Given the description of an element on the screen output the (x, y) to click on. 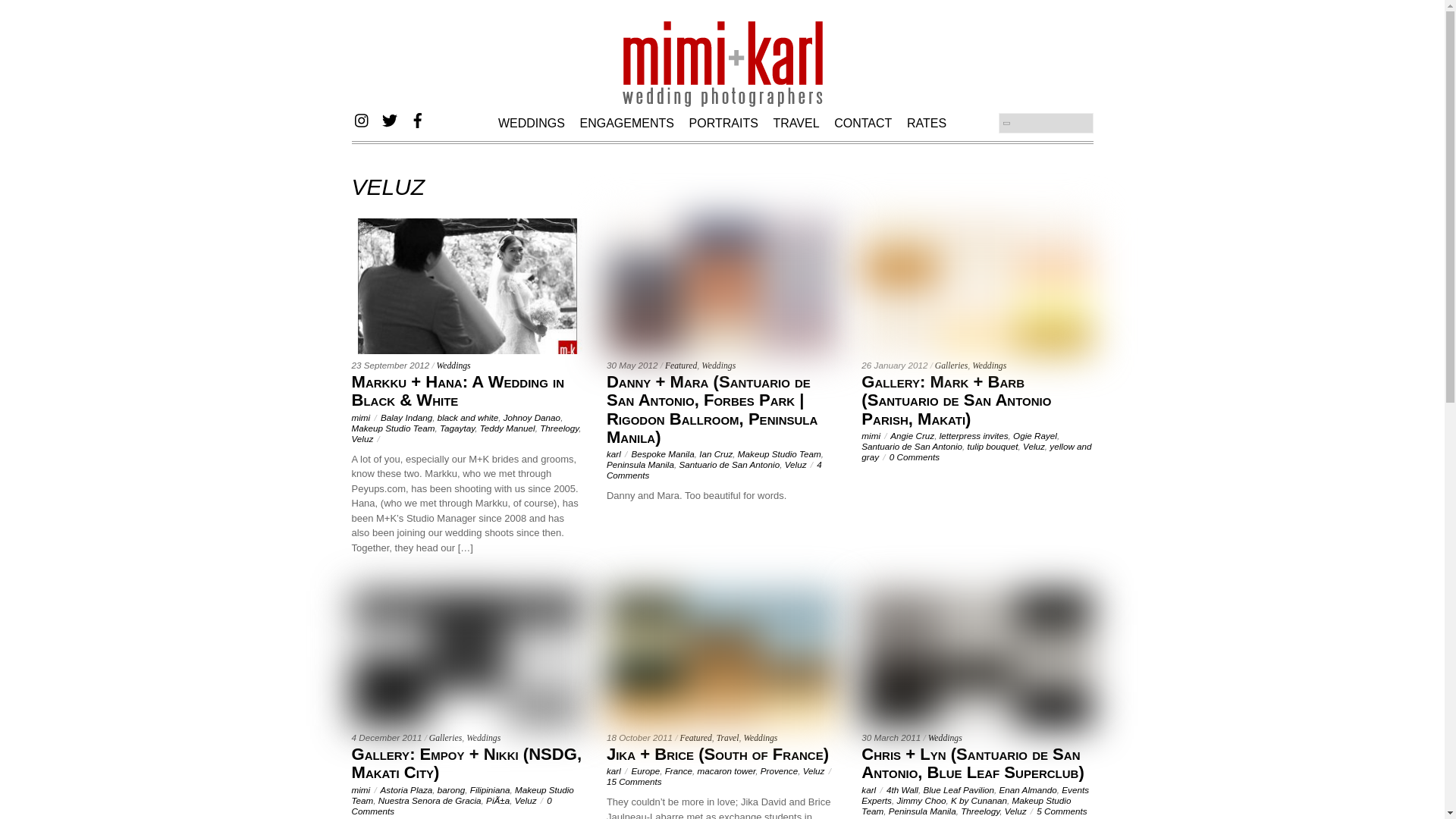
Teddy Manuel (507, 428)
jika01 (722, 658)
Featured (681, 366)
Balay Indang (406, 417)
Makeup Studio Team (779, 453)
Makeup Studio Team (393, 428)
PORTRAITS (723, 121)
karl (614, 453)
Veluz (795, 464)
CONTACT (862, 121)
